Given the description of an element on the screen output the (x, y) to click on. 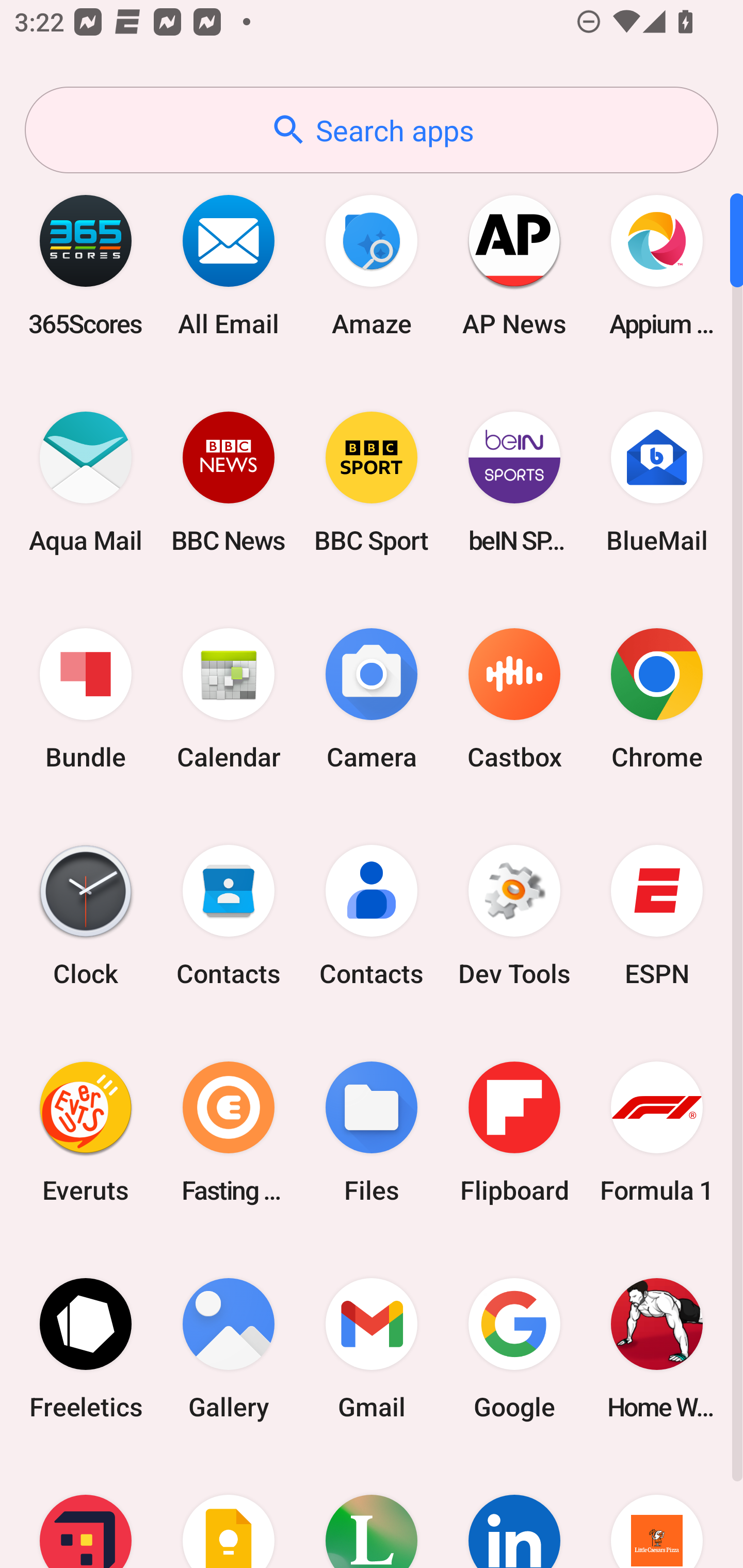
  Search apps (371, 130)
365Scores (85, 264)
All Email (228, 264)
Amaze (371, 264)
AP News (514, 264)
Appium Settings (656, 264)
Aqua Mail (85, 482)
BBC News (228, 482)
BBC Sport (371, 482)
beIN SPORTS (514, 482)
BlueMail (656, 482)
Bundle (85, 699)
Calendar (228, 699)
Camera (371, 699)
Castbox (514, 699)
Chrome (656, 699)
Clock (85, 915)
Contacts (228, 915)
Contacts (371, 915)
Dev Tools (514, 915)
ESPN (656, 915)
Everuts (85, 1131)
Fasting Coach (228, 1131)
Files (371, 1131)
Flipboard (514, 1131)
Formula 1 (656, 1131)
Freeletics (85, 1348)
Gallery (228, 1348)
Gmail (371, 1348)
Google (514, 1348)
Home Workout (656, 1348)
Hotels.com (85, 1512)
Keep Notes (228, 1512)
Lifesum (371, 1512)
LinkedIn (514, 1512)
Little Caesars Pizza (656, 1512)
